Given the description of an element on the screen output the (x, y) to click on. 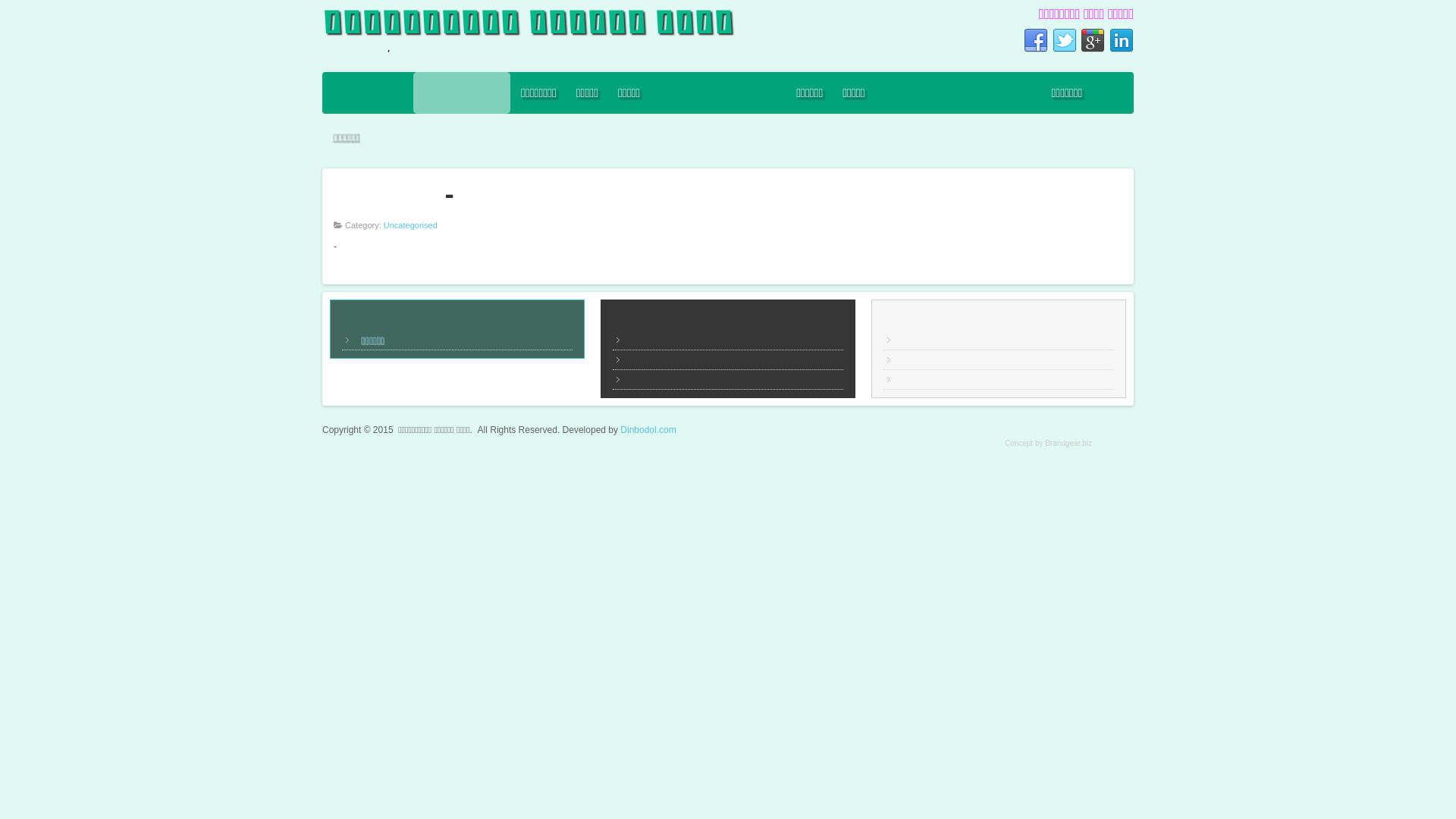
Brandgear.biz Element type: text (1068, 443)
Concept Element type: text (1018, 443)
Uncategorised Element type: text (410, 224)
Dinbodol.com Element type: text (647, 429)
